Given the description of an element on the screen output the (x, y) to click on. 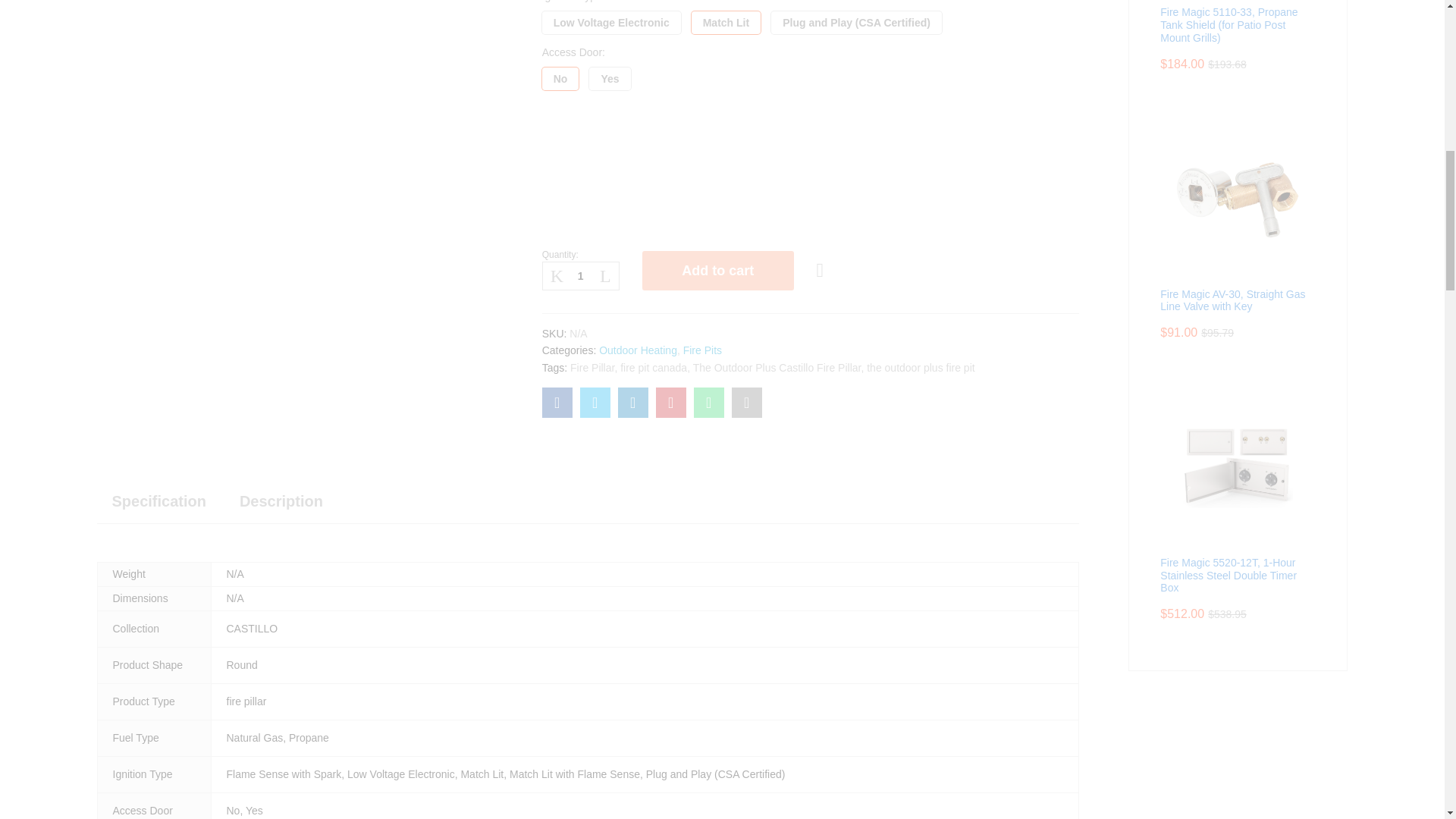
1 (580, 275)
The Outdoor Plus Castillo Fire Pillar (556, 402)
Add to wishlist (821, 270)
Qty (580, 275)
